Given the description of an element on the screen output the (x, y) to click on. 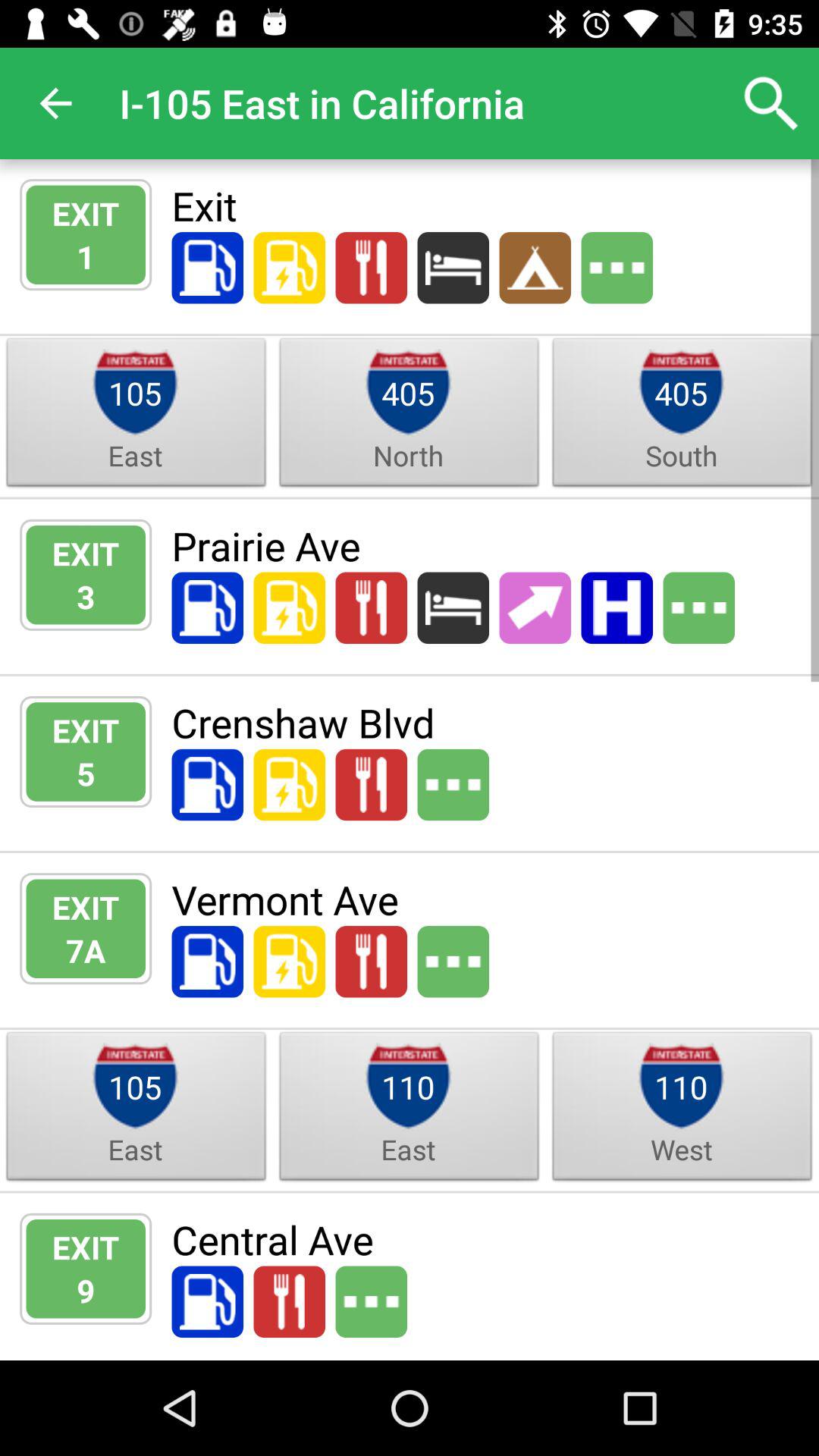
tap icon above prairie ave (681, 455)
